Given the description of an element on the screen output the (x, y) to click on. 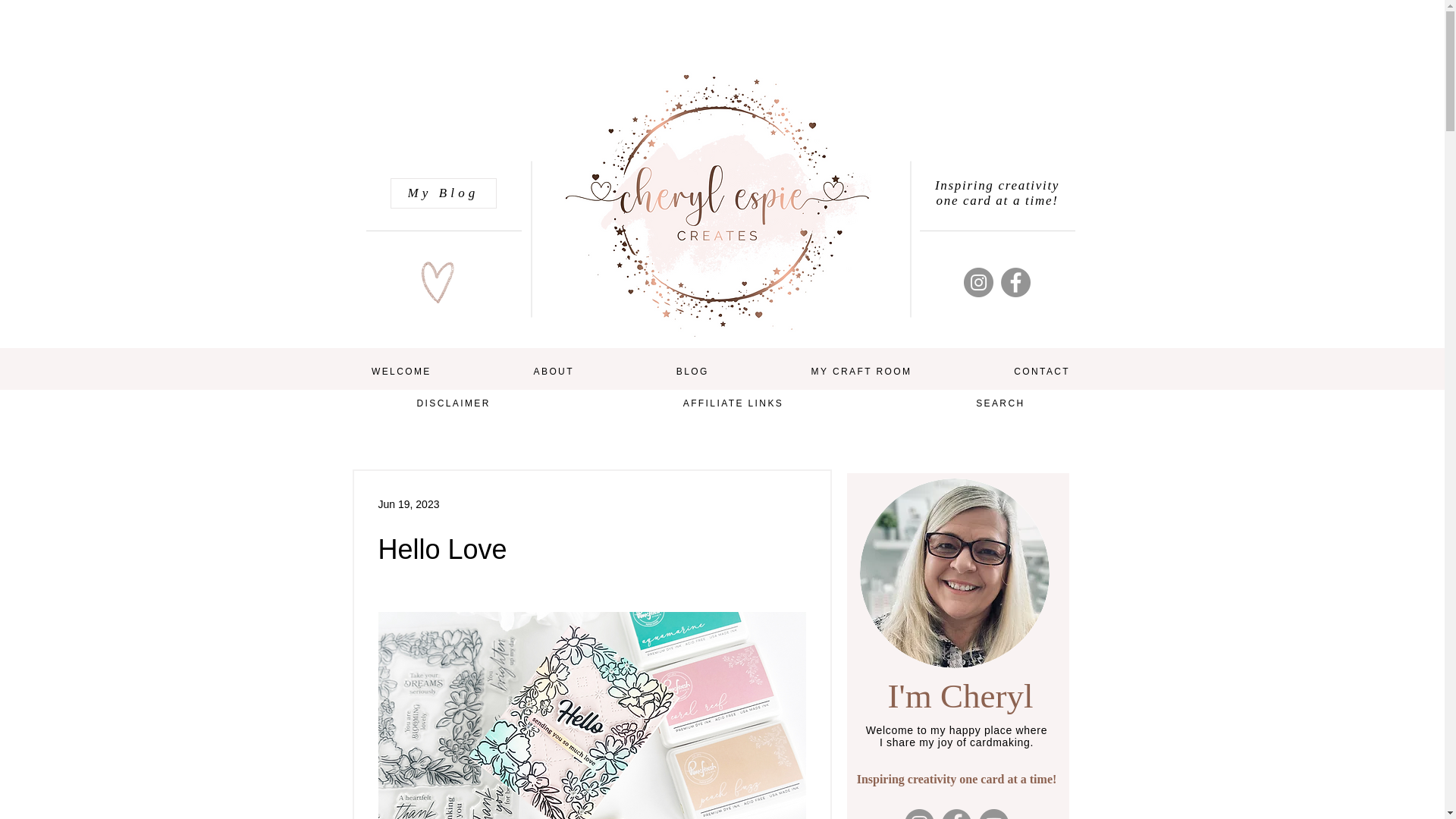
Inspiring creativity (996, 185)
one card at a time! (997, 200)
BLOG (692, 371)
DISCLAIMER (453, 403)
WELCOME (400, 371)
AFFILIATE LINKS (732, 403)
CONTACT (1041, 371)
Jun 19, 2023 (408, 503)
My Blog (443, 193)
ABOUT (553, 371)
